Given the description of an element on the screen output the (x, y) to click on. 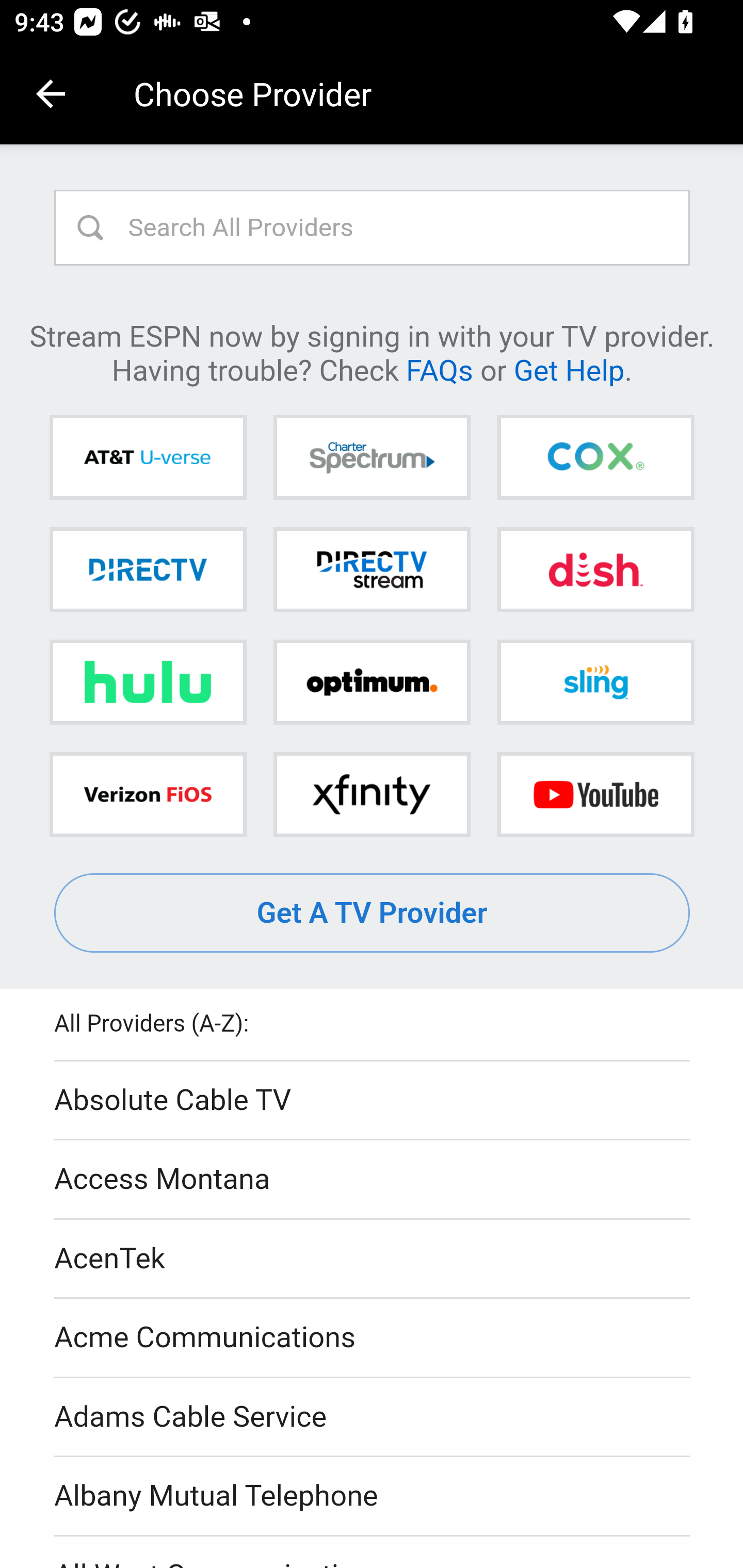
Navigate up (50, 93)
FAQs (438, 369)
Get Help (569, 369)
AT&T U-verse (147, 457)
Charter Spectrum (371, 457)
Cox (595, 457)
DIRECTV (147, 568)
DIRECTV STREAM (371, 568)
DISH (595, 568)
Hulu (147, 681)
Optimum (371, 681)
Sling TV (595, 681)
Verizon FiOS (147, 793)
Xfinity (371, 793)
YouTube TV (595, 793)
Get A TV Provider (372, 912)
Absolute Cable TV (372, 1100)
Access Montana (372, 1178)
AcenTek (372, 1258)
Acme Communications (372, 1338)
Adams Cable Service (372, 1417)
Albany Mutual Telephone (372, 1497)
